Given the description of an element on the screen output the (x, y) to click on. 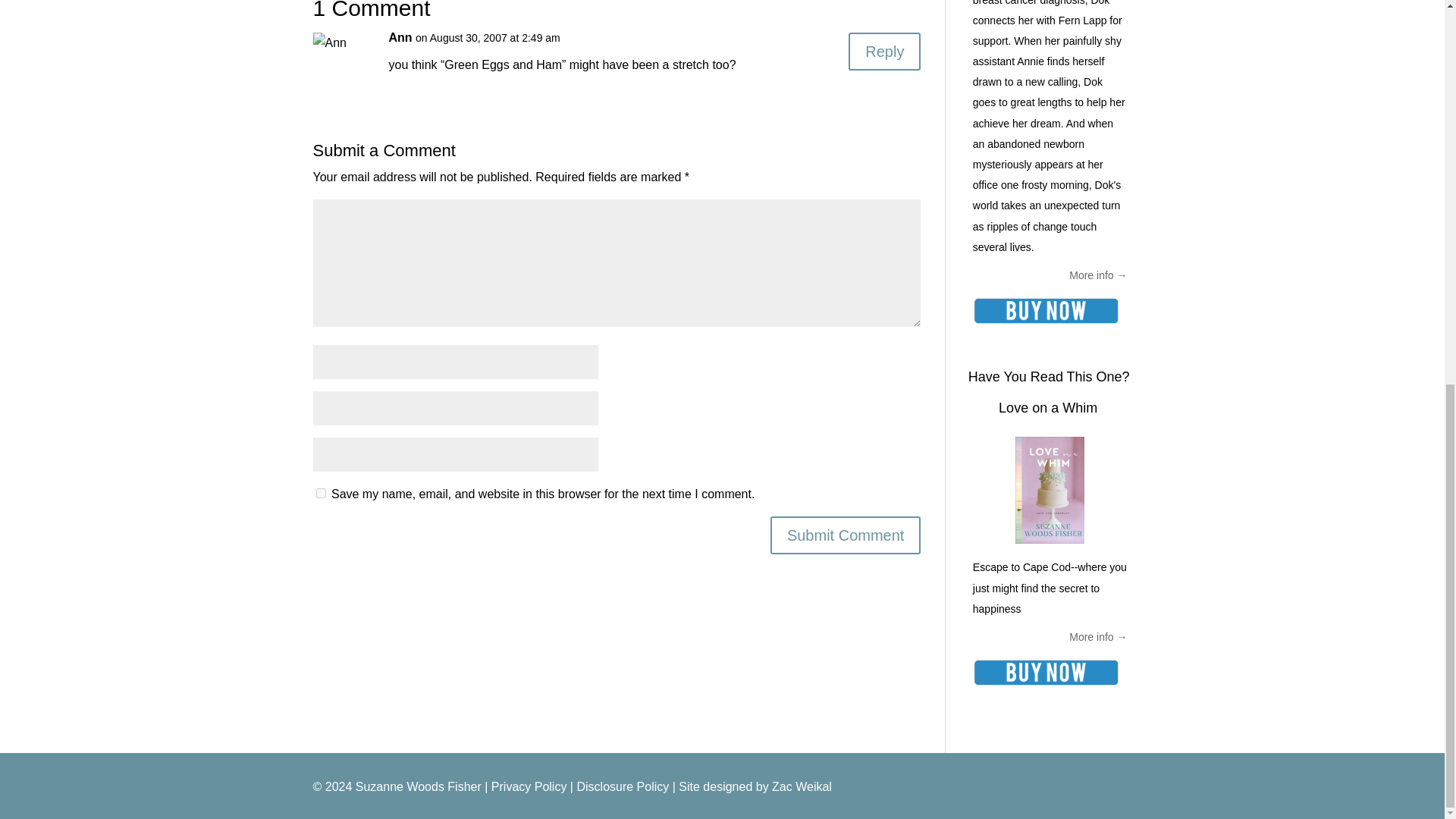
Submit Comment (845, 535)
yes (319, 492)
Love on a Whim (1047, 407)
Submit Comment (845, 535)
Reply (884, 51)
